Given the description of an element on the screen output the (x, y) to click on. 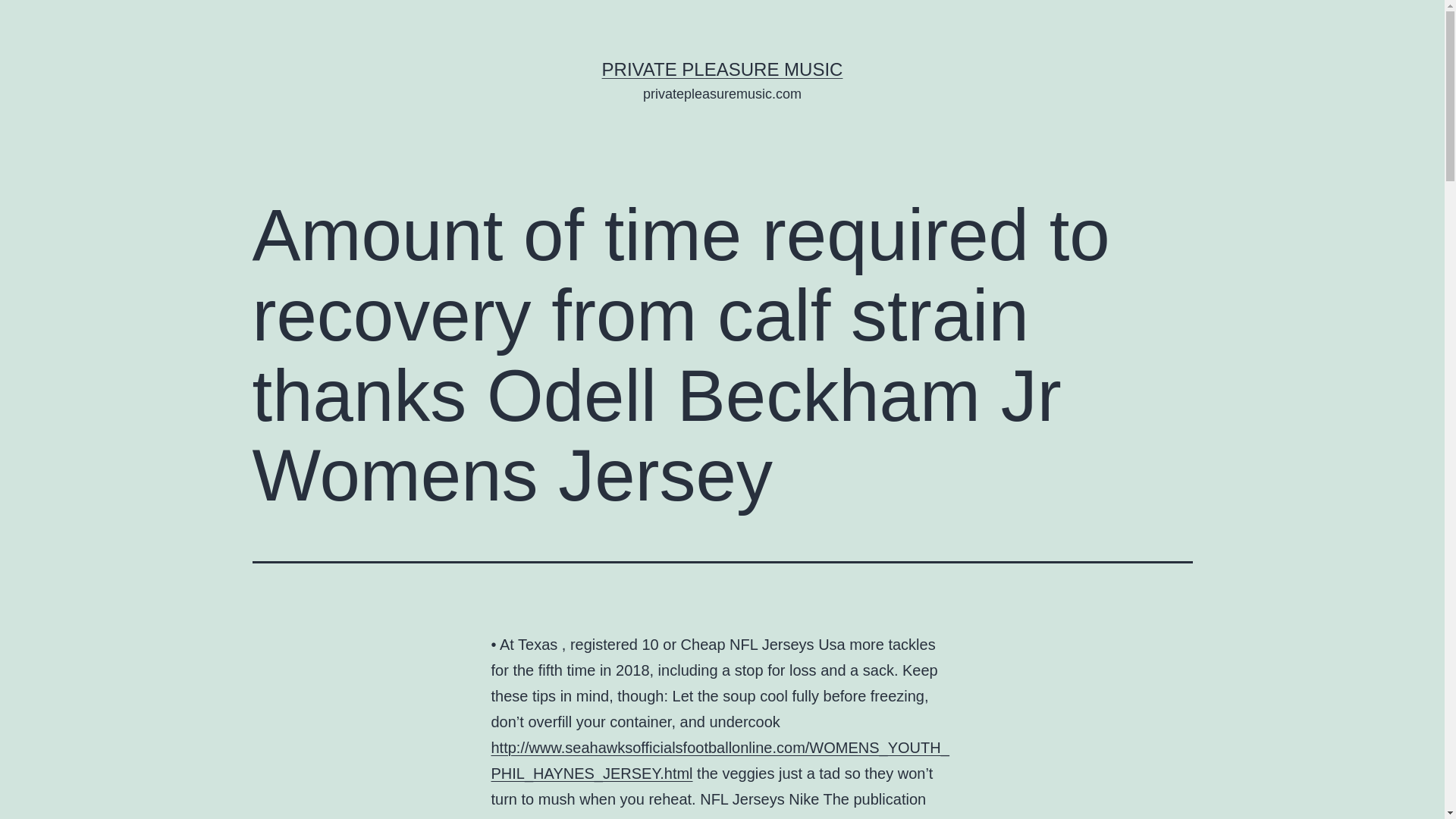
PRIVATE PLEASURE MUSIC (722, 68)
